Given the description of an element on the screen output the (x, y) to click on. 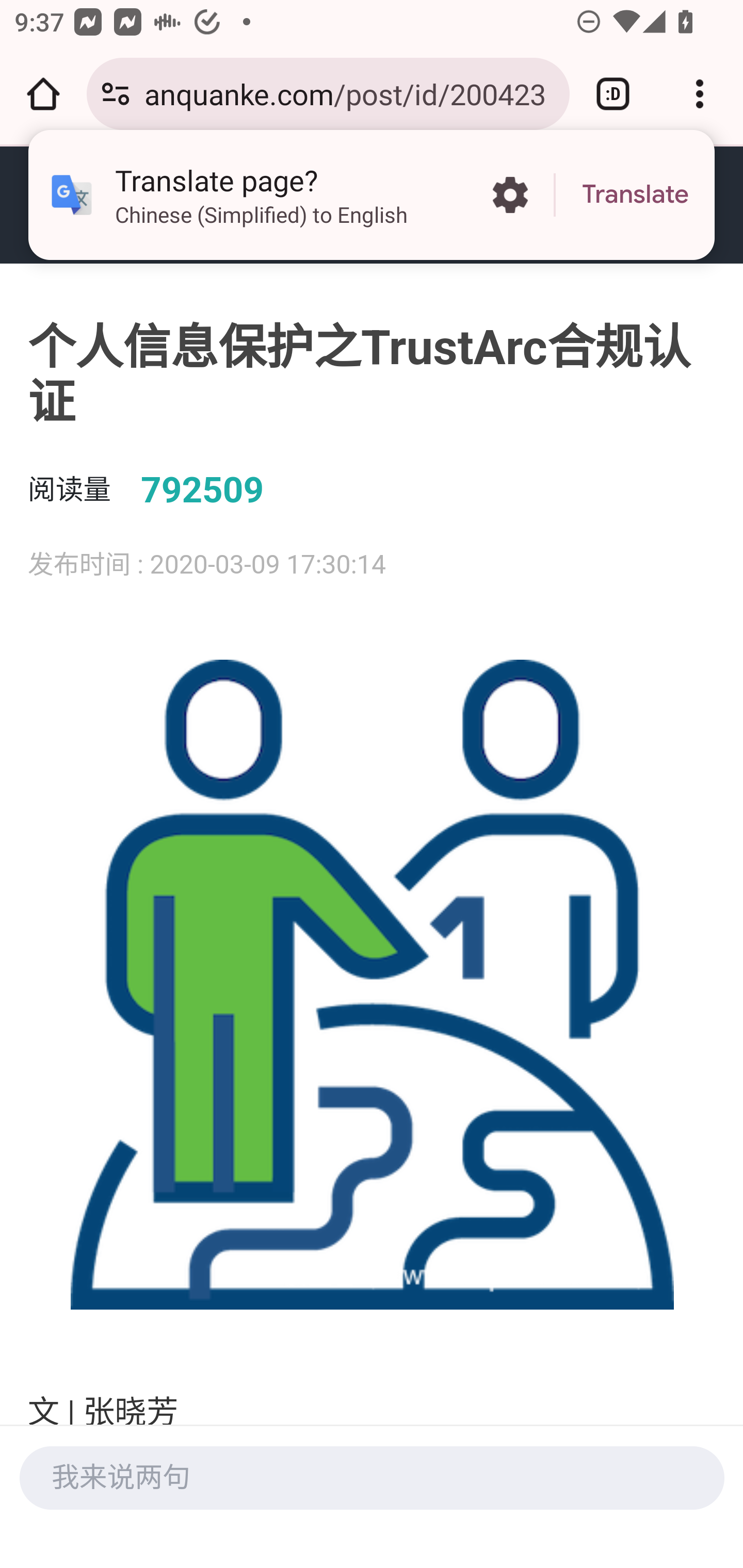
Open the home page (43, 93)
Connection is secure (115, 93)
Switch or close tabs (612, 93)
Customize and control Google Chrome (699, 93)
anquanke.com/post/id/200423 (349, 92)
Translate (634, 195)
More options in the Translate page? (509, 195)
t010f945168d5c28f8b (137, 203)
我来说两句 (371, 1476)
